Given the description of an element on the screen output the (x, y) to click on. 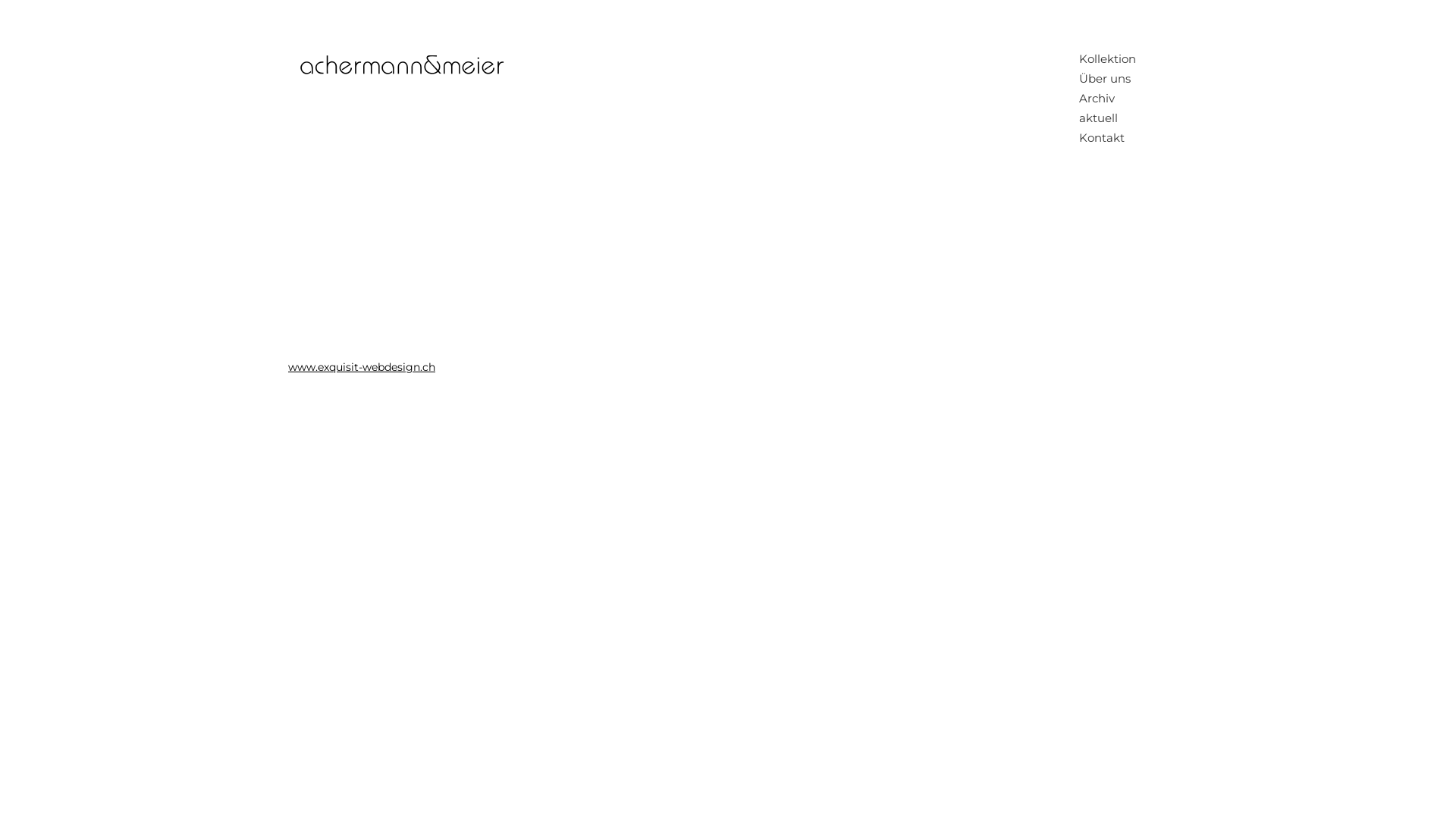
aktuell Element type: text (1108, 118)
www.exquisit-webdesign.ch Element type: text (361, 366)
Archiv Element type: text (1108, 98)
Kollektion Element type: text (1108, 59)
Kontakt Element type: text (1108, 137)
